Given the description of an element on the screen output the (x, y) to click on. 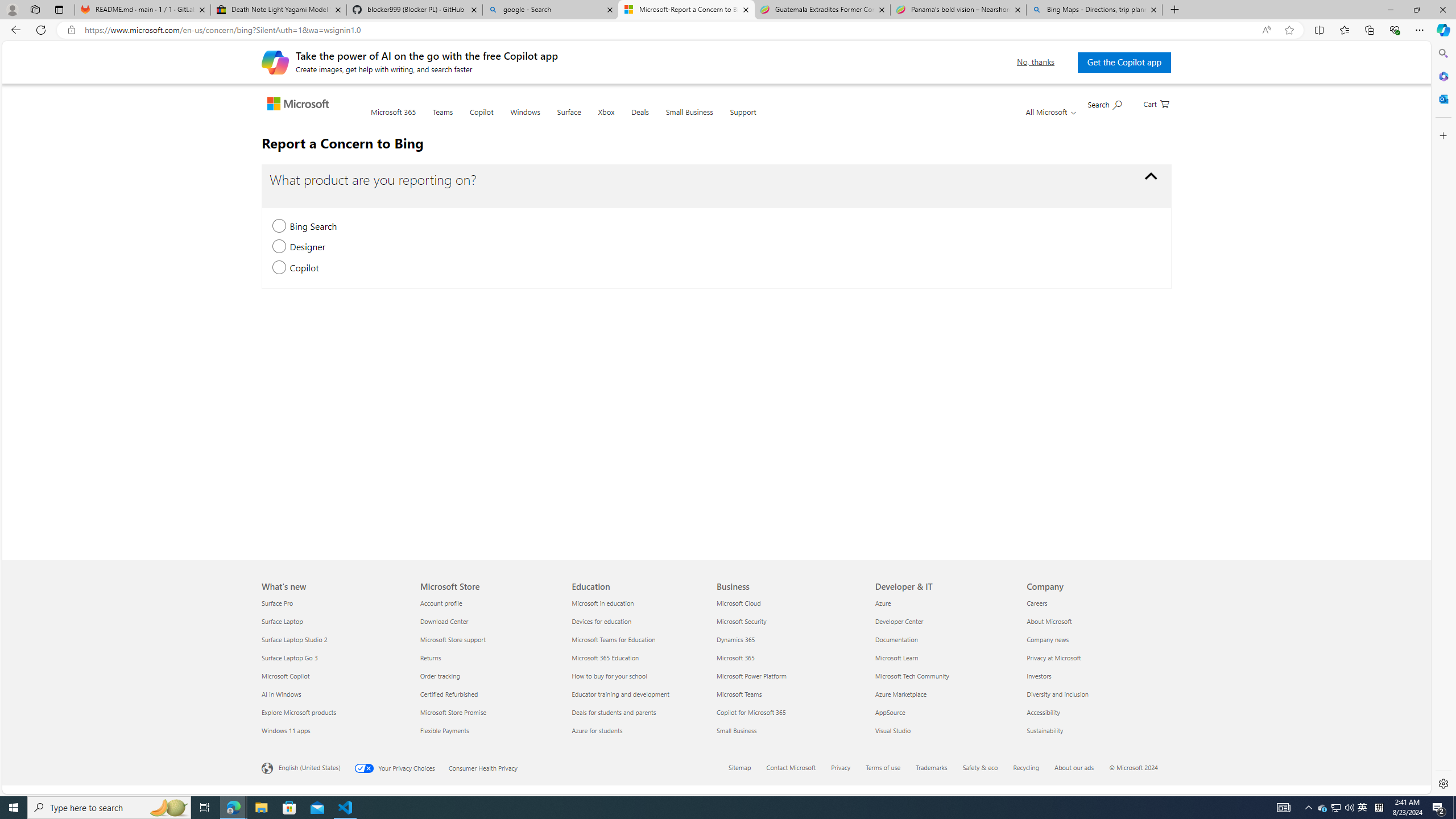
Xbox (605, 118)
Copilot (480, 118)
Surface Pro What's new (278, 602)
Accessibility Company (1042, 711)
Careers (1095, 602)
Surface Laptop What's new (282, 620)
Recycling (1032, 768)
No, thanks (1035, 61)
Microsoft Power Platform (788, 675)
Sitemap (739, 766)
Order tracking Microsoft Store (439, 675)
